Given the description of an element on the screen output the (x, y) to click on. 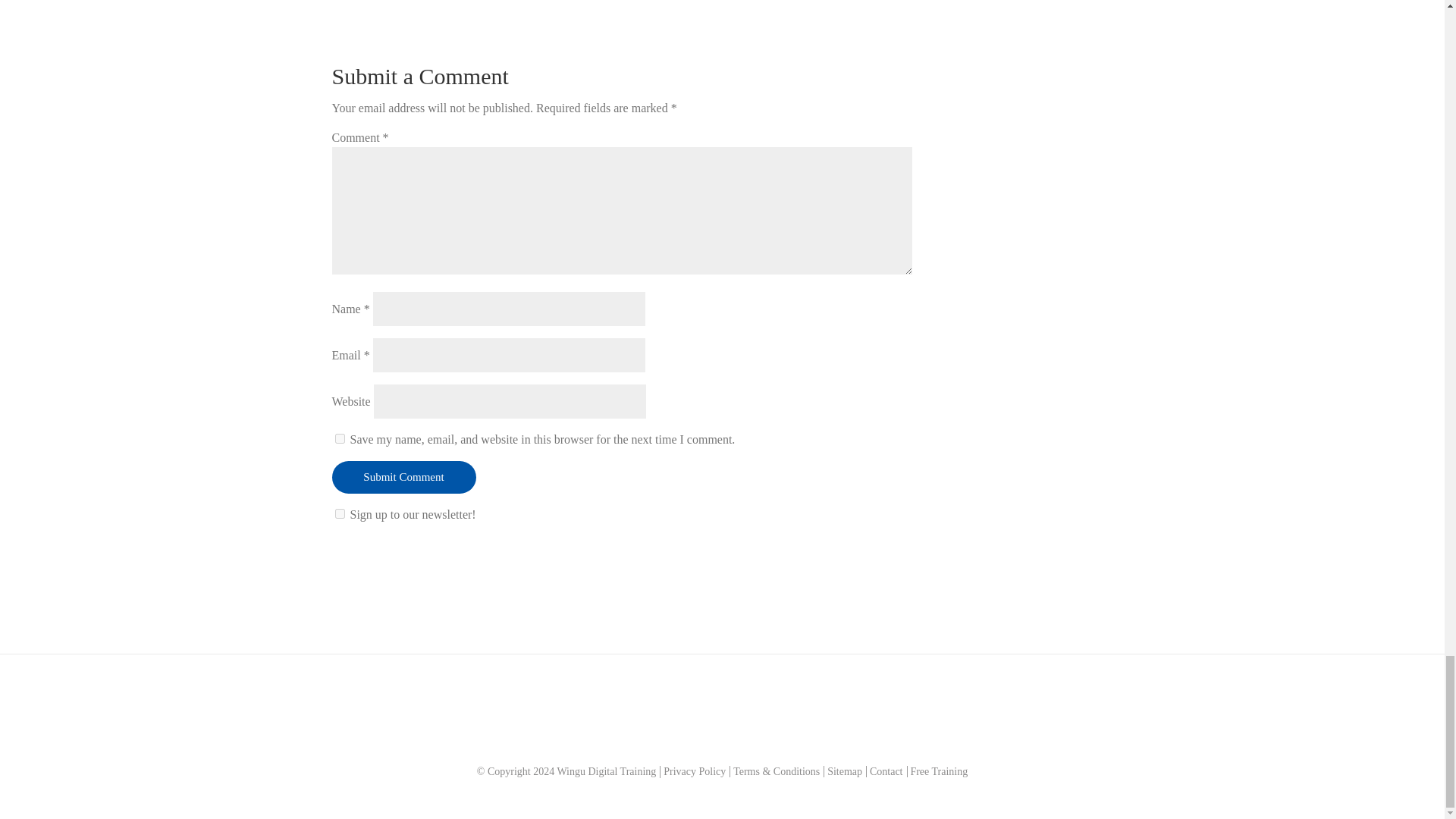
Submit Comment (403, 477)
yes (339, 438)
Submit Comment (403, 477)
1 (339, 513)
